Given the description of an element on the screen output the (x, y) to click on. 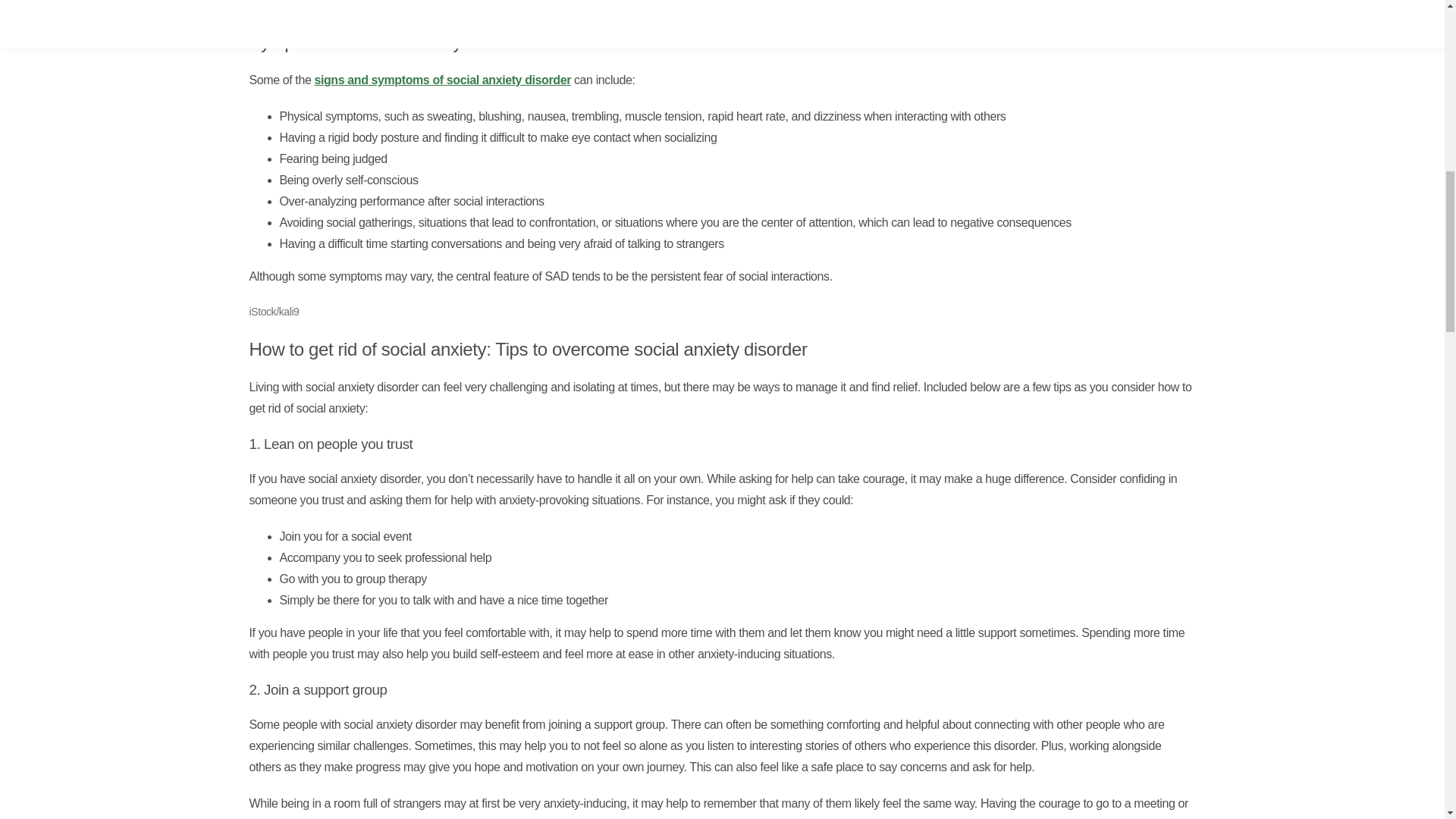
signs and symptoms of social anxiety disorder (442, 79)
